Given the description of an element on the screen output the (x, y) to click on. 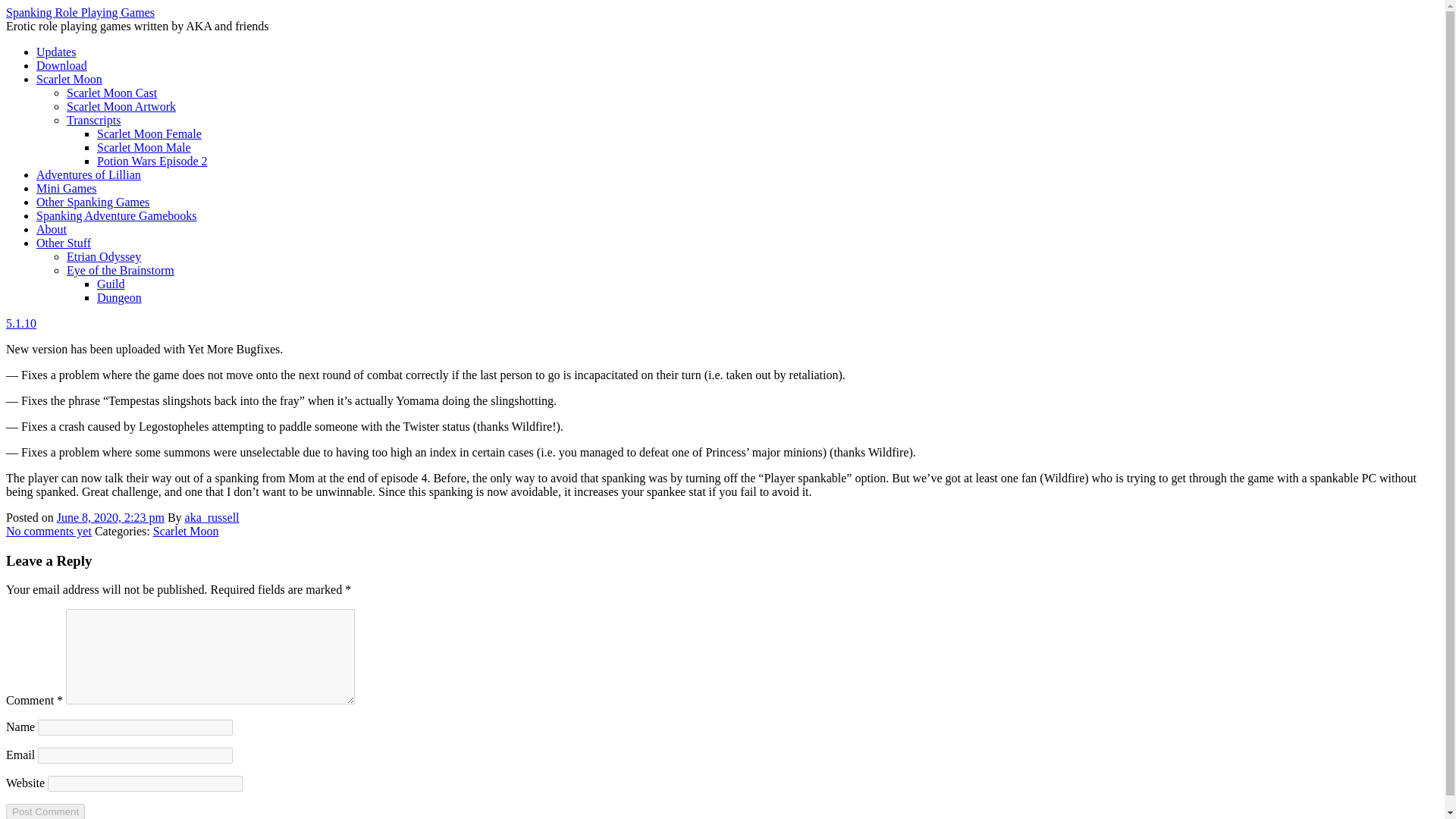
Spanking Role Playing Games (79, 11)
Spanking Role Playing Games (79, 11)
Scarlet Moon Cast (111, 92)
About (51, 228)
Eye of the Brainstorm (120, 269)
Scarlet Moon (185, 530)
5.1.10 (20, 323)
Adventures of Lillian (88, 174)
Potion Wars Episode 2 (152, 160)
No comments yet (48, 530)
5.1.10 (110, 517)
5.1.10 (20, 323)
Updates (55, 51)
Etrian Odyssey (103, 256)
June 8, 2020, 2:23 pm (110, 517)
